Given the description of an element on the screen output the (x, y) to click on. 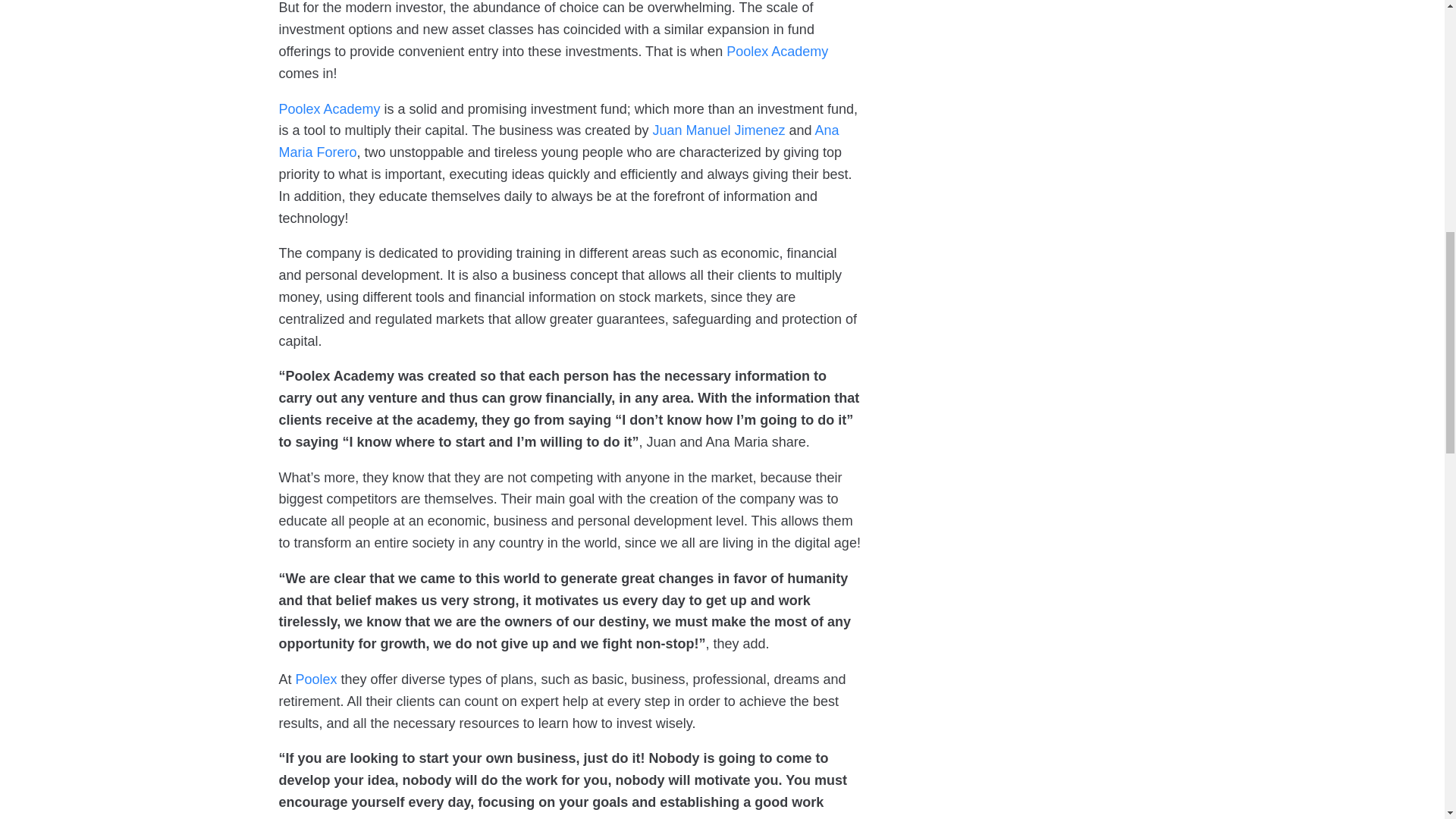
Poolex Academy (777, 51)
Juan Manuel Jimenez (718, 130)
Ana Maria Forero (559, 140)
Poolex (316, 679)
Poolex Academy (329, 109)
